Given the description of an element on the screen output the (x, y) to click on. 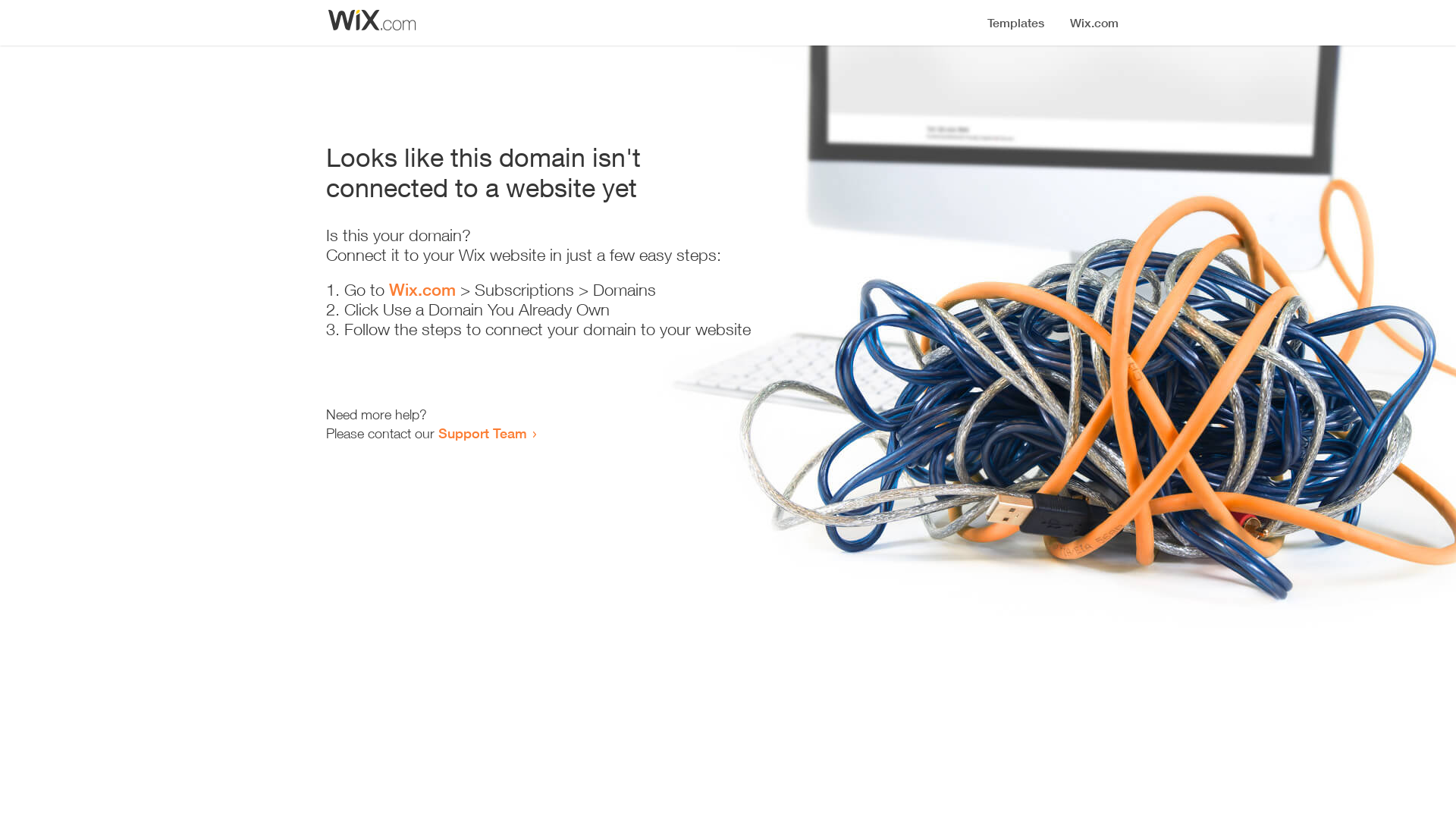
Wix.com Element type: text (422, 289)
Support Team Element type: text (482, 432)
